Given the description of an element on the screen output the (x, y) to click on. 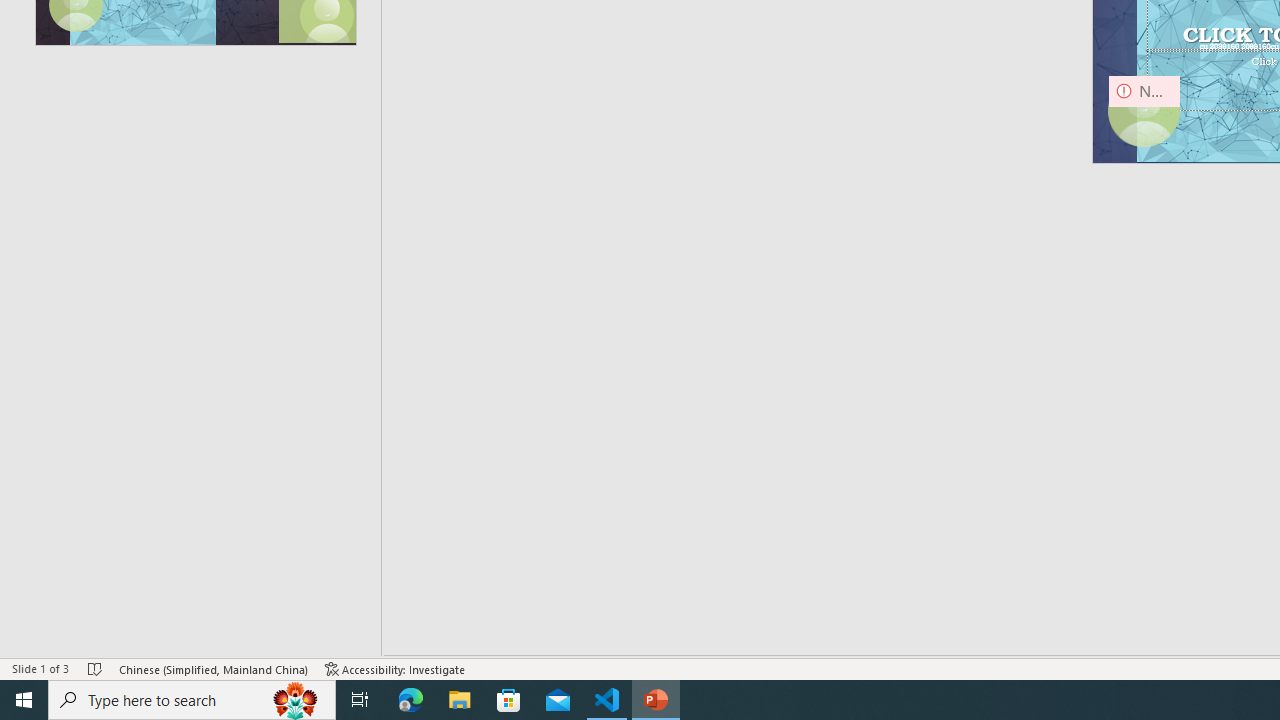
Camera 9, No camera detected. (1144, 111)
